Given the description of an element on the screen output the (x, y) to click on. 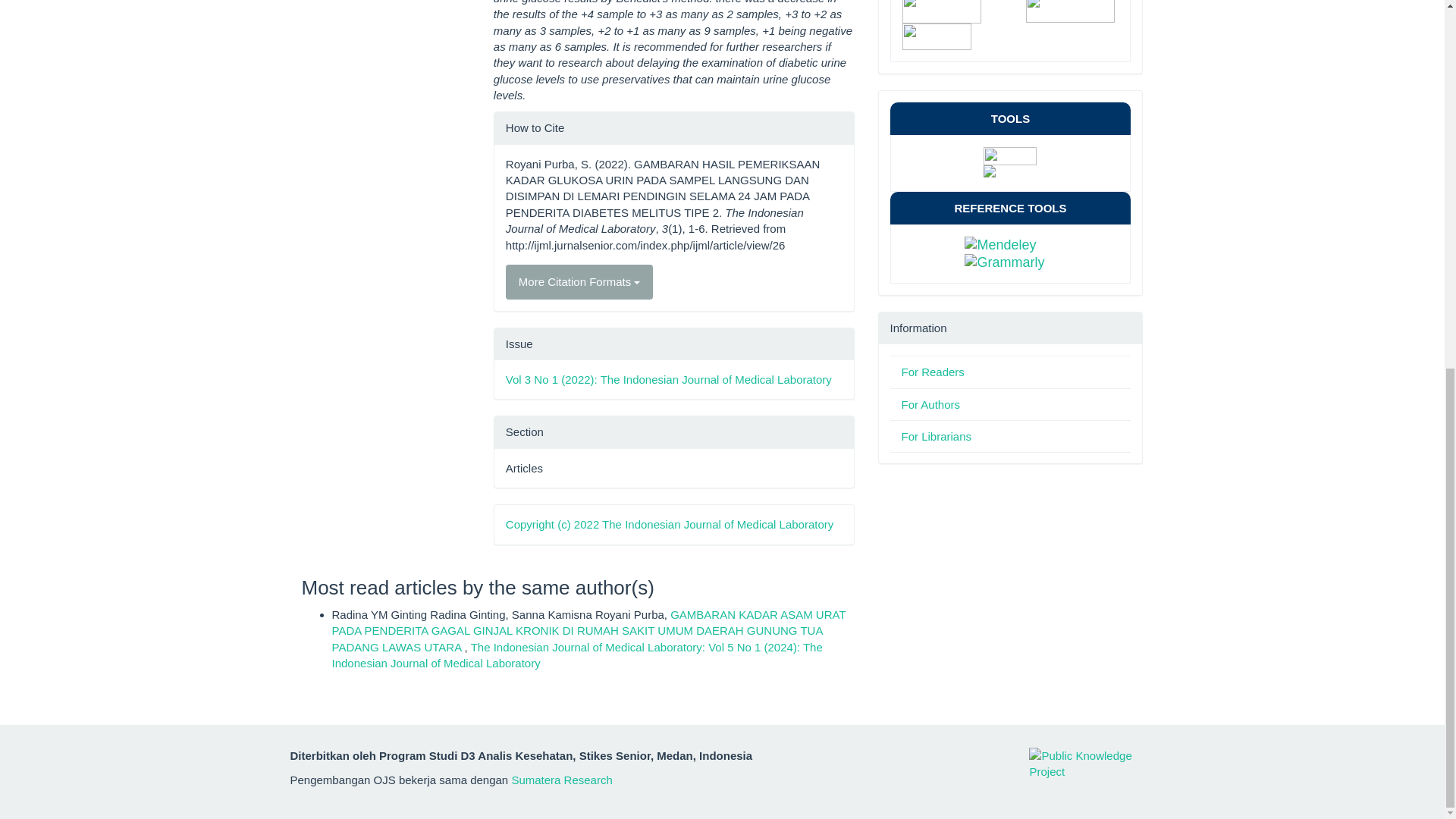
Template  (956, 7)
Template  (1010, 22)
Template  (982, 35)
More Citation Formats (579, 281)
